Given the description of an element on the screen output the (x, y) to click on. 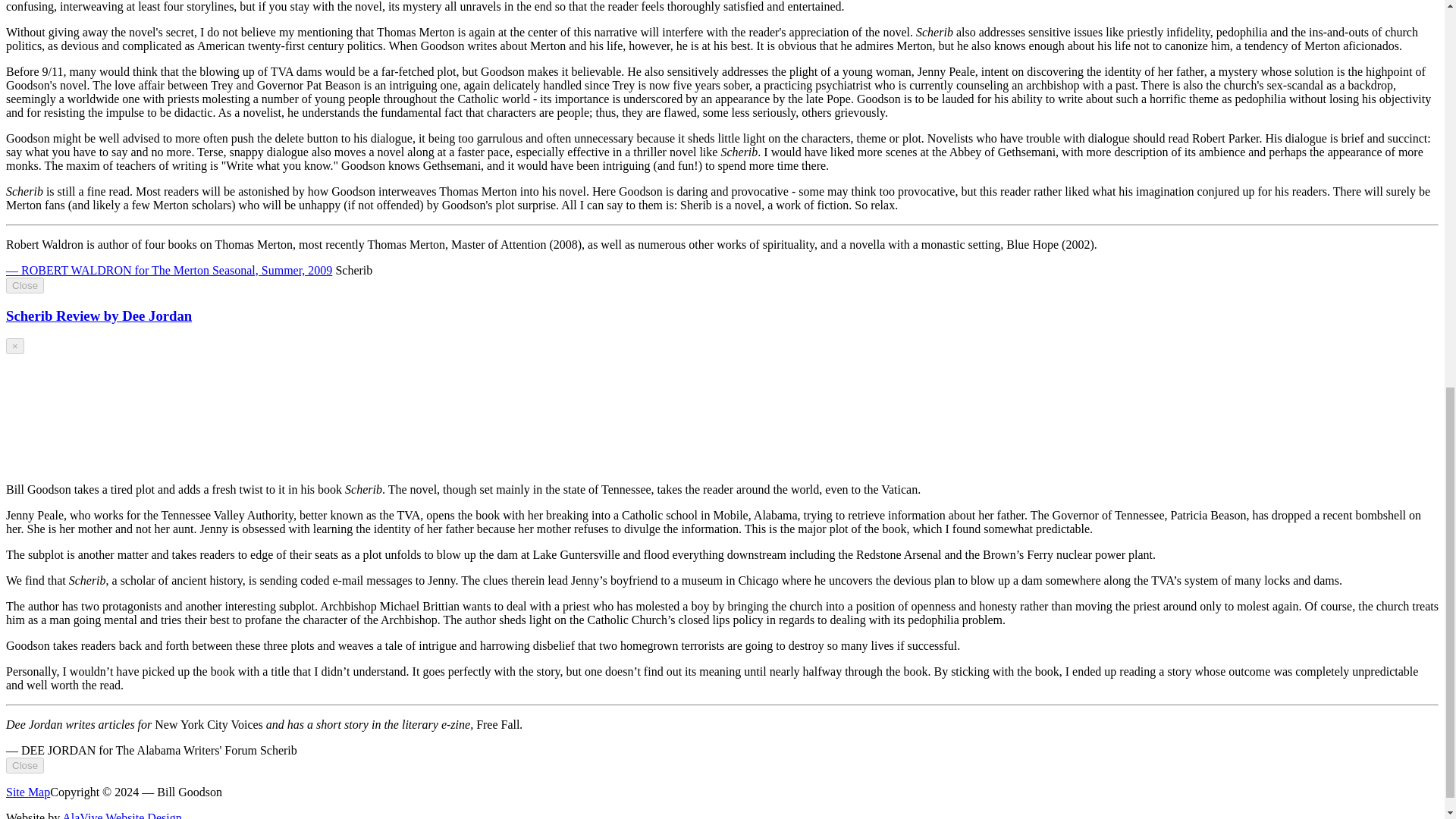
Close (24, 285)
Scherib Review by Dee Jordan (98, 315)
Site Map (27, 791)
Close (24, 765)
Scherib Review by Dee Jordan (98, 315)
